Given the description of an element on the screen output the (x, y) to click on. 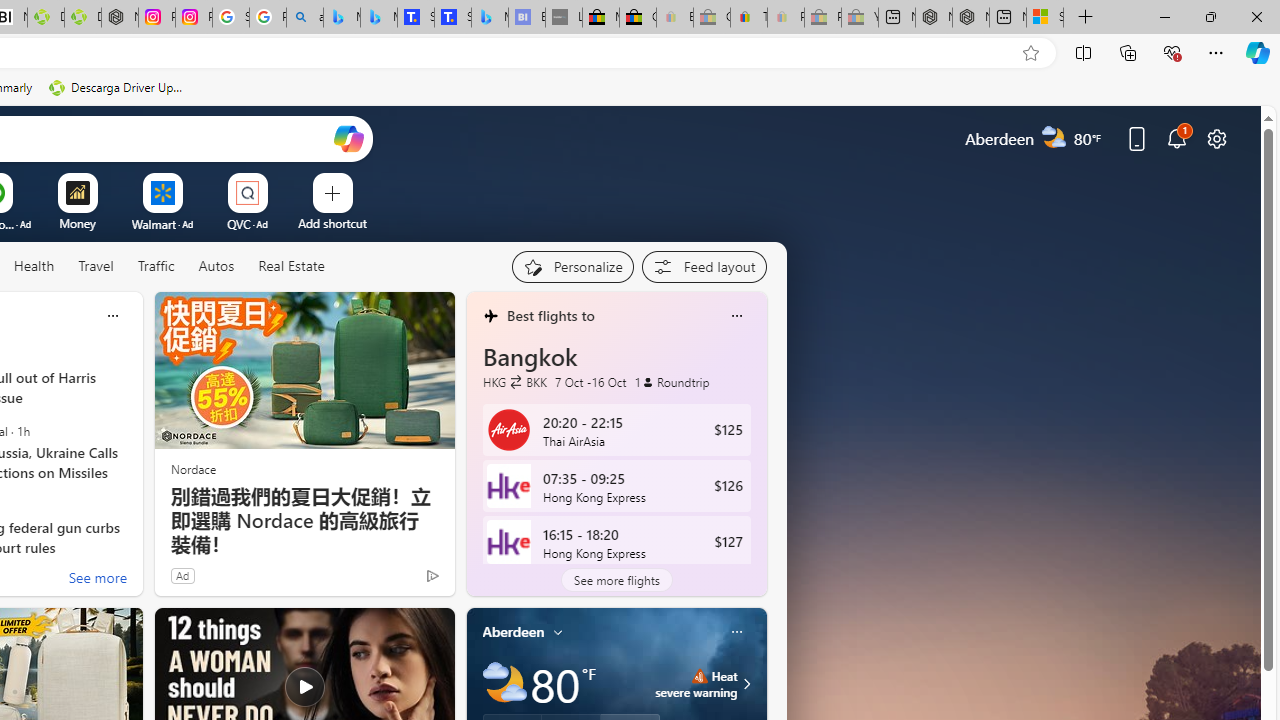
Microsoft Bing Travel - Flights from Hong Kong to Bangkok (341, 17)
Microsoft Bing Travel - Shangri-La Hotel Bangkok (490, 17)
